Given the description of an element on the screen output the (x, y) to click on. 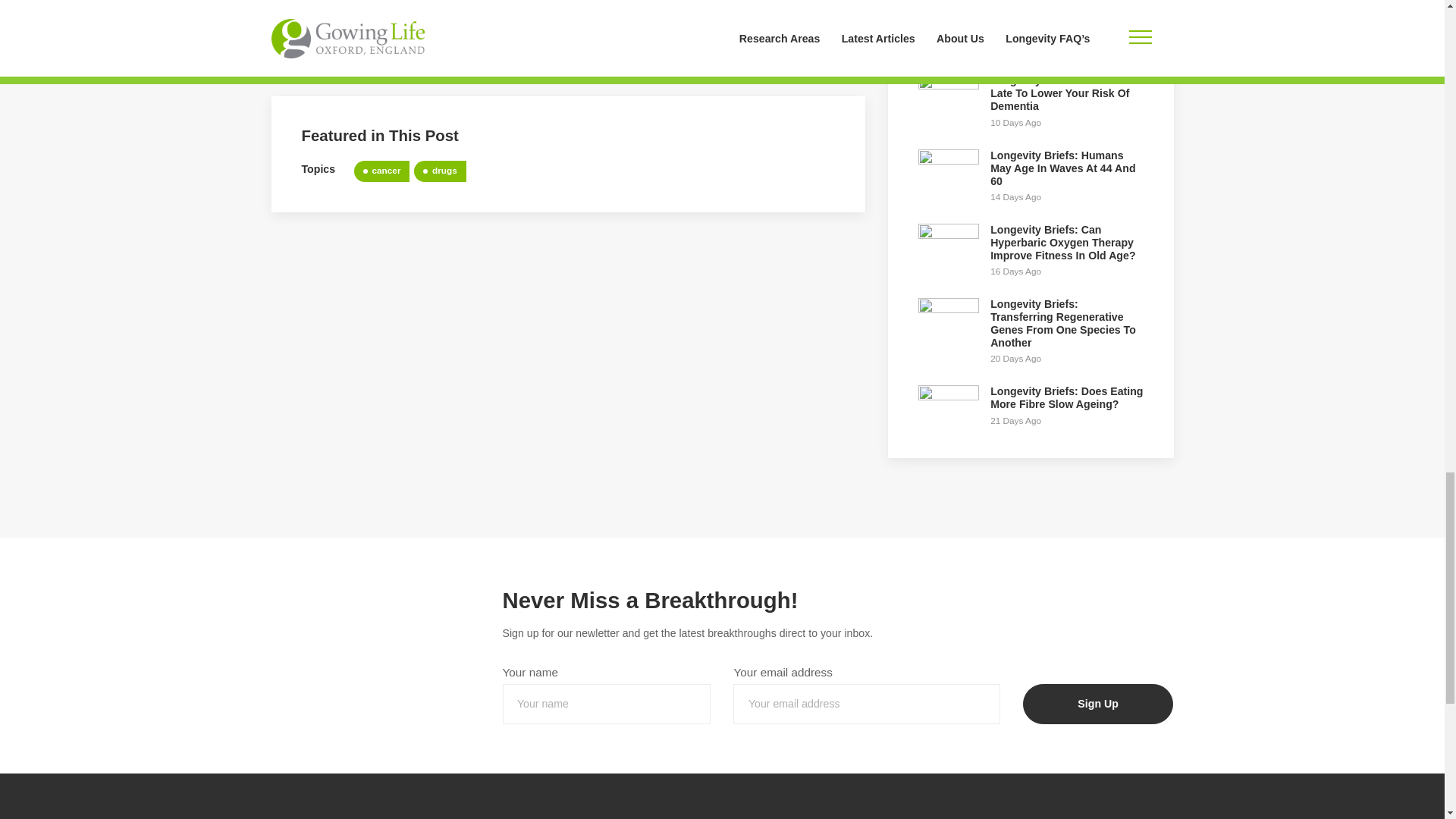
cancer (381, 170)
drugs (439, 170)
Sign Up (1098, 703)
Sign Up (775, 8)
Sign Up (775, 8)
